Given the description of an element on the screen output the (x, y) to click on. 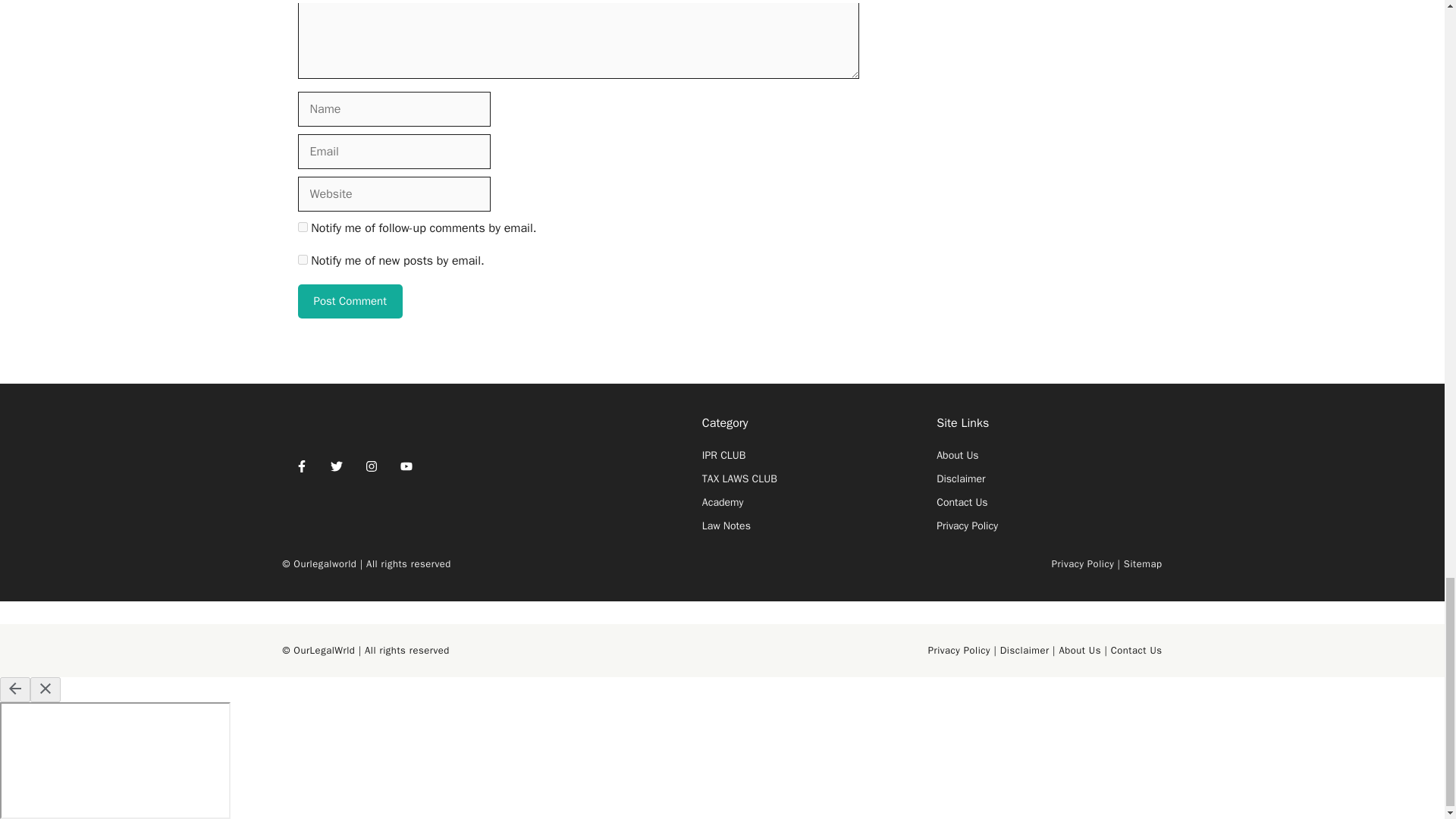
subscribe (302, 226)
subscribe (302, 259)
Post Comment (349, 301)
